Given the description of an element on the screen output the (x, y) to click on. 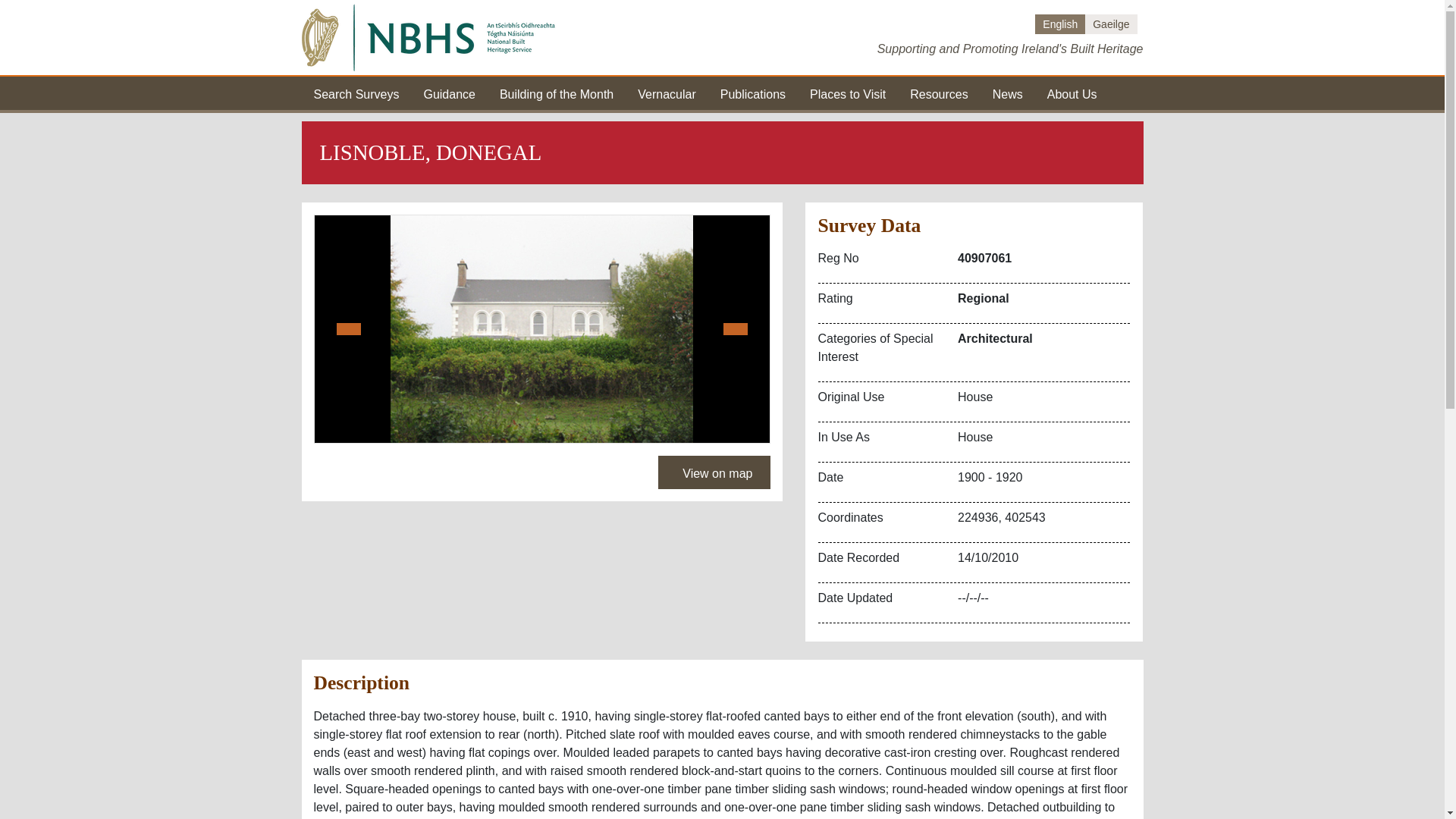
Vernacular (666, 92)
Places to Visit (847, 92)
About Us (1071, 92)
Building of the Month (555, 92)
News (1007, 92)
Resources (939, 92)
Publications (753, 92)
View on map (714, 471)
Search Surveys (356, 92)
English (1059, 24)
Gaeilge (1110, 24)
Guidance (449, 92)
